Given the description of an element on the screen output the (x, y) to click on. 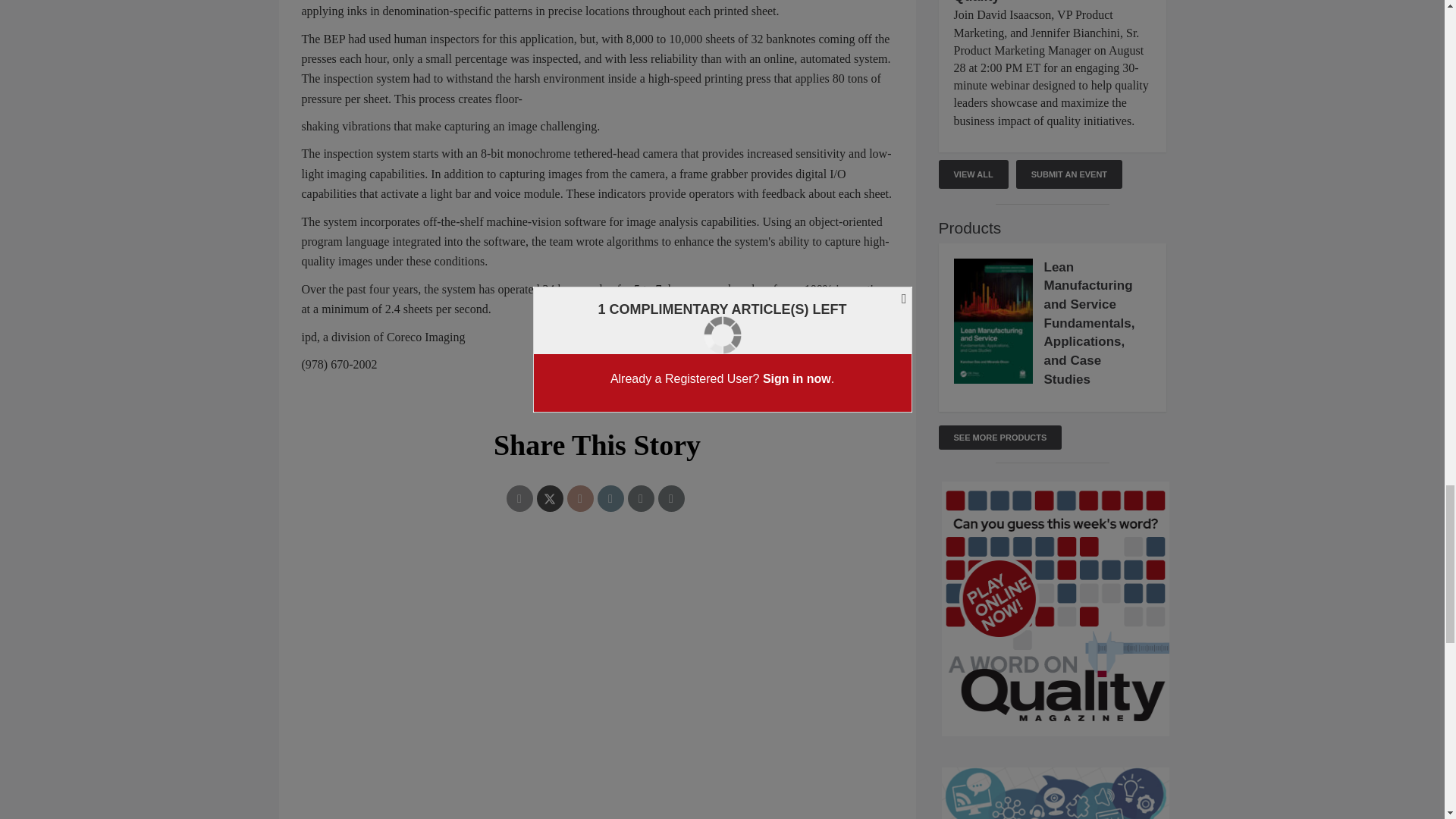
Interaction questions (597, 623)
Building a Business Case for Quality (1047, 2)
